Given the description of an element on the screen output the (x, y) to click on. 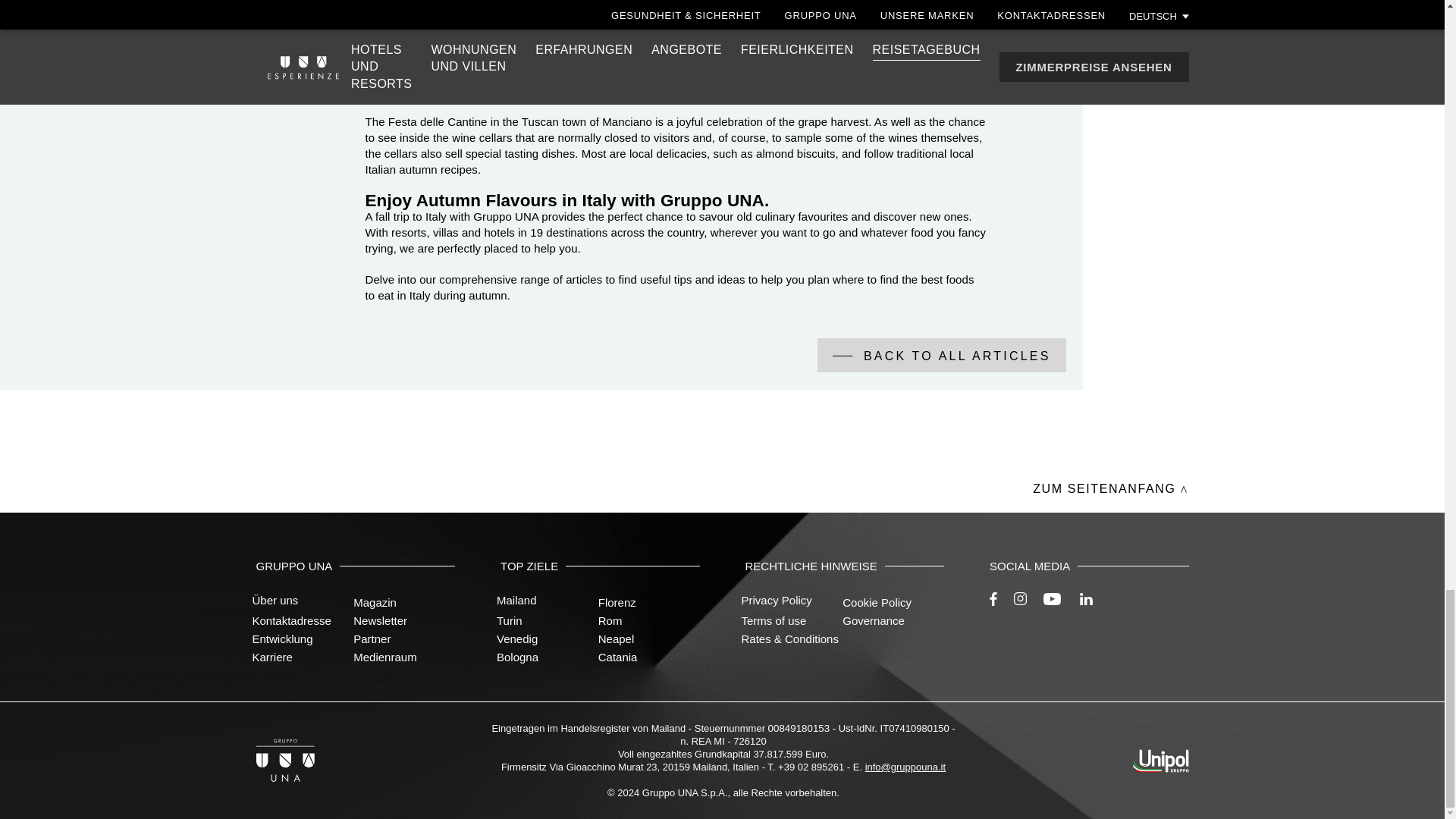
Magazin (374, 602)
BACK TO ALL ARTICLES (940, 355)
Newsletter (380, 620)
ZUM SEITENANFANG (1109, 488)
Kontaktadresse (290, 620)
ZUM SEITENANFANG (1109, 488)
